Given the description of an element on the screen output the (x, y) to click on. 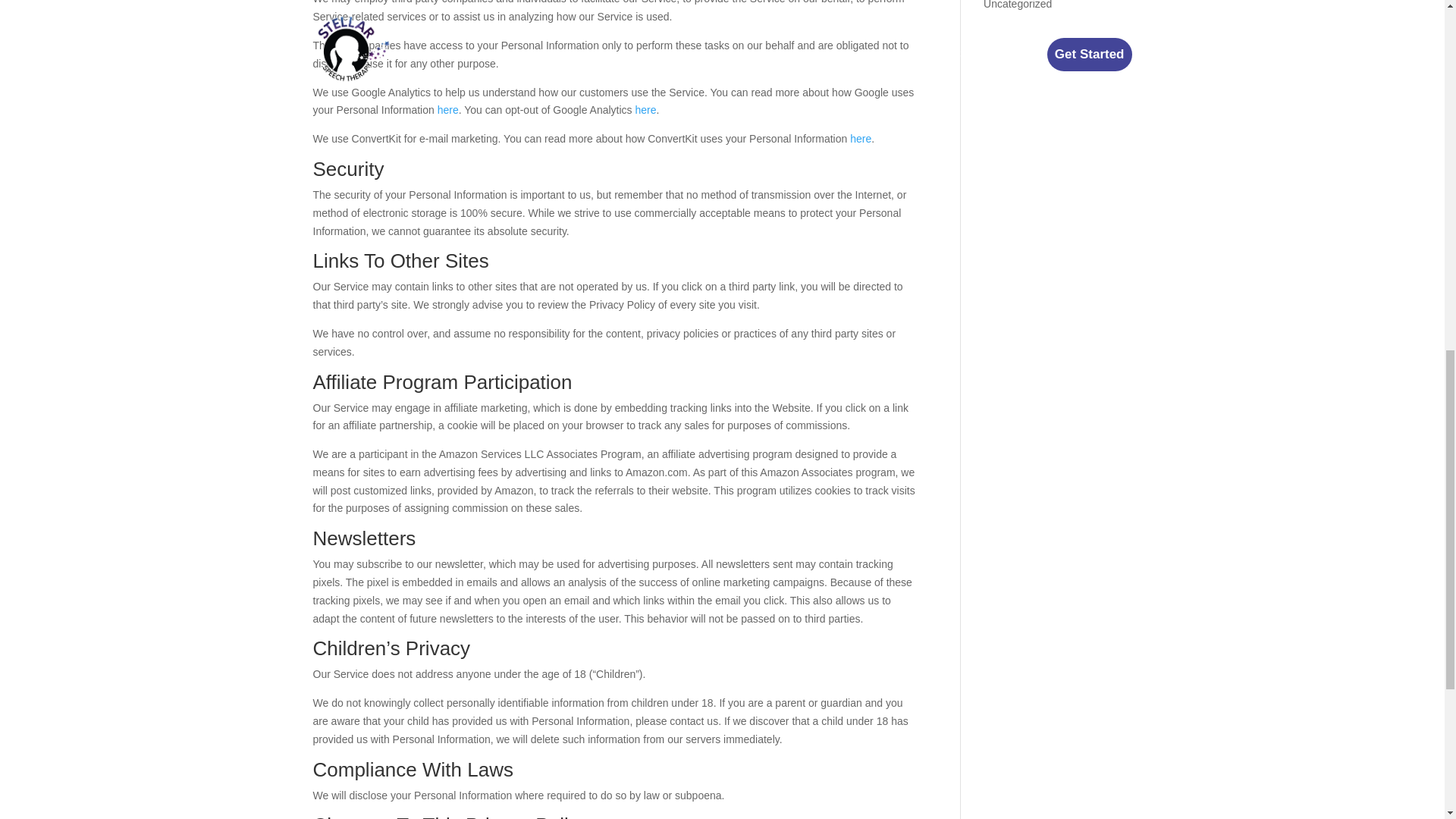
here (448, 110)
here (645, 110)
here (860, 138)
